Given the description of an element on the screen output the (x, y) to click on. 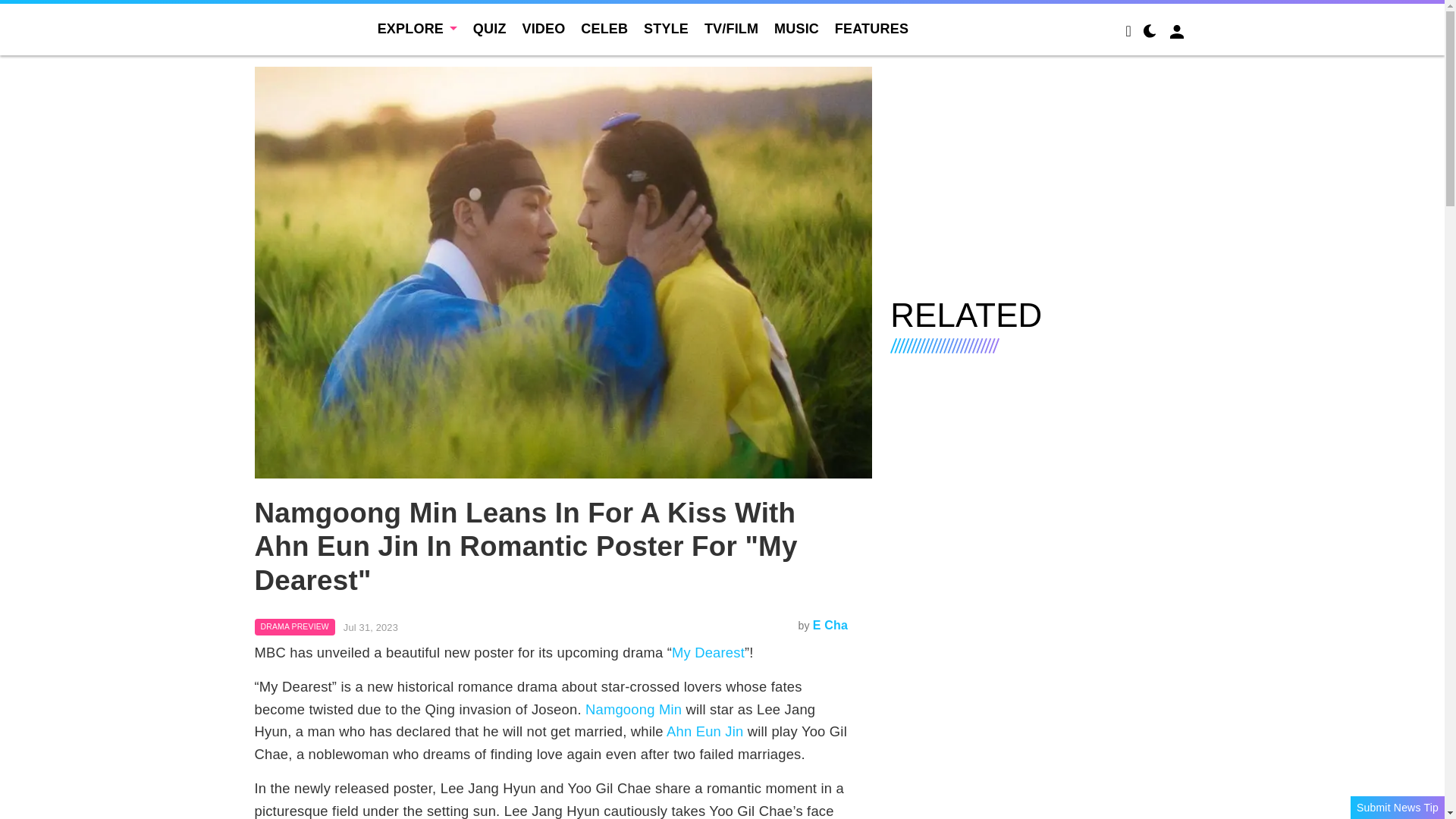
VIDEO (542, 28)
Drama Preview (294, 627)
CELEB (603, 28)
Articles by E Cha (829, 625)
EXPLORE (417, 28)
E Cha (829, 625)
My Dearest (707, 652)
Namgoong Min (633, 709)
FEATURES (871, 28)
Ahn Eun Jin (704, 731)
